Given the description of an element on the screen output the (x, y) to click on. 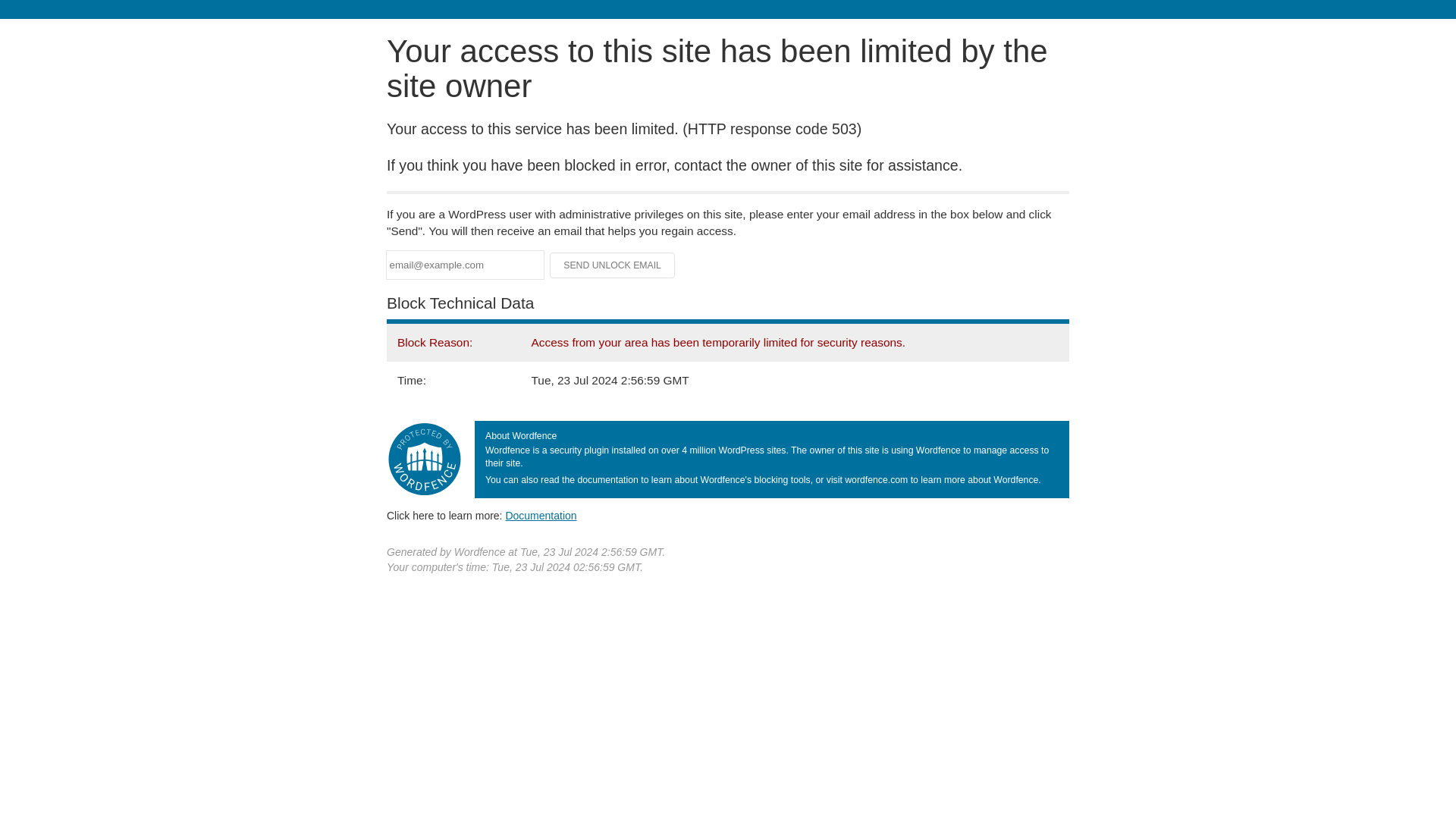
Documentation (540, 515)
Send Unlock Email (612, 265)
Send Unlock Email (612, 265)
